Given the description of an element on the screen output the (x, y) to click on. 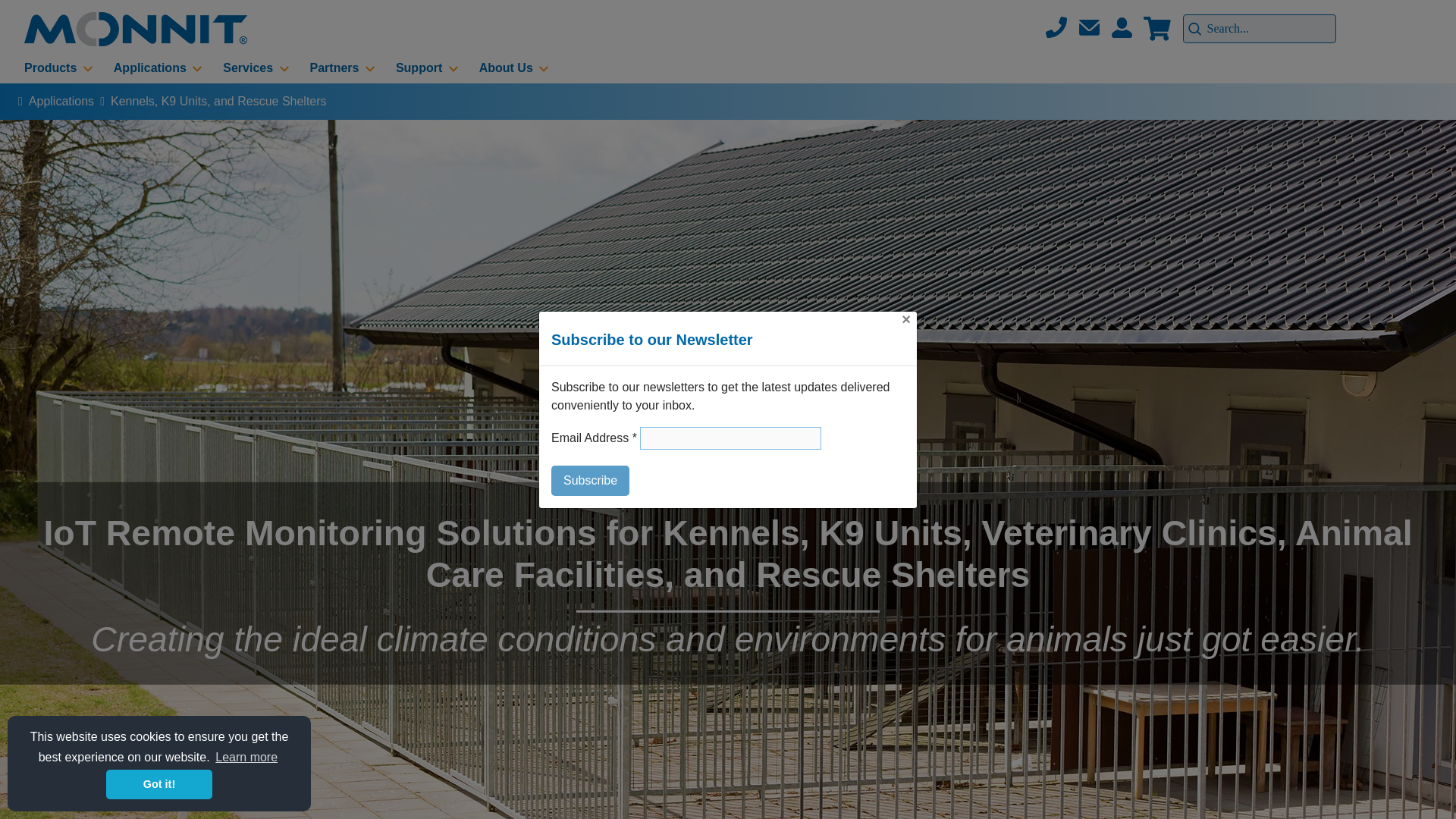
Got it! (159, 784)
Subscribe (589, 481)
Learn more (245, 757)
